Given the description of an element on the screen output the (x, y) to click on. 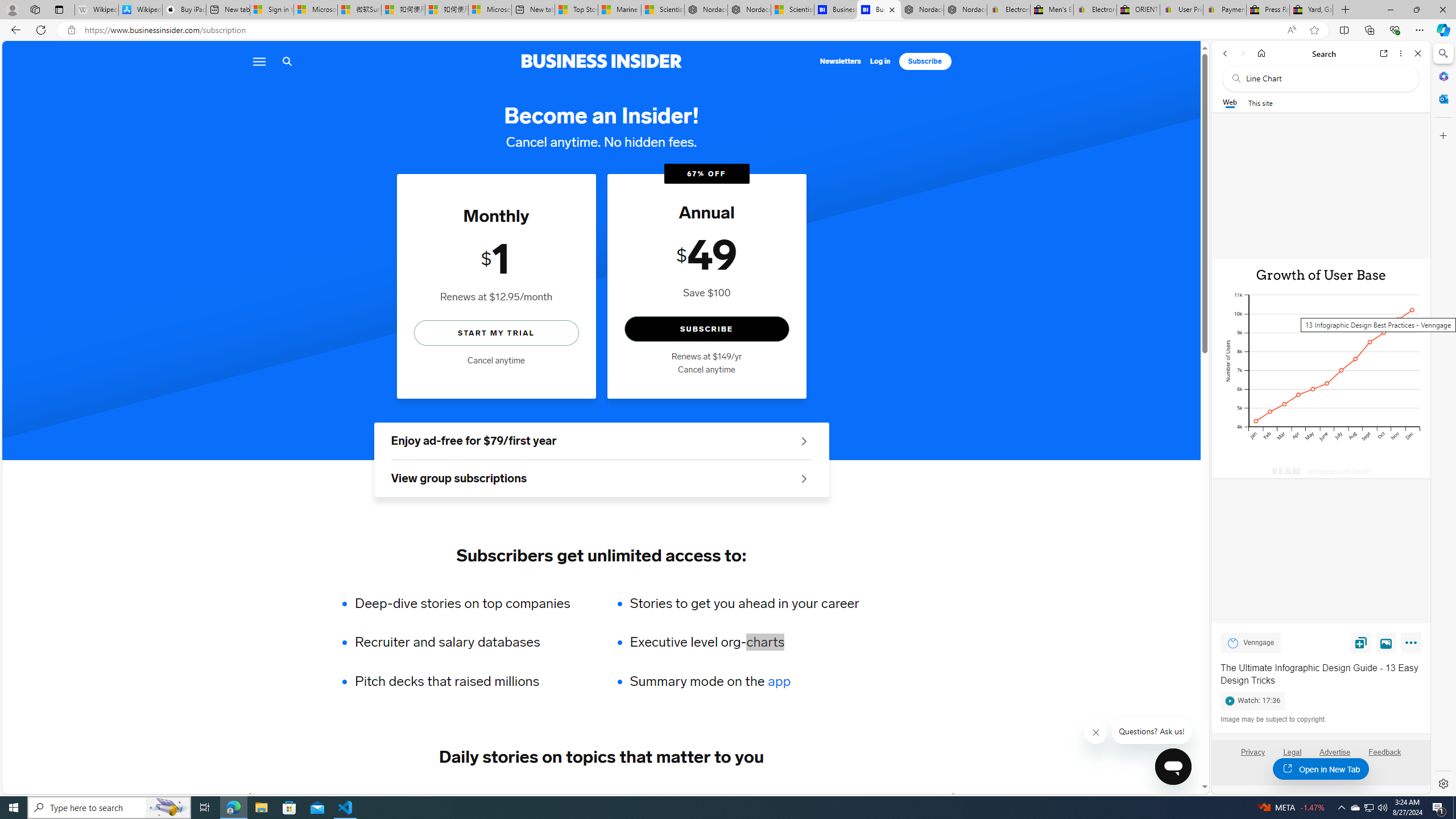
PERSONAL FINANCE (577, 796)
See group offers (803, 478)
View image (1385, 642)
Minimize Search pane (1442, 53)
Cancel anytime (706, 369)
Class: sc-1uf0igr-1 fjHZYk (1096, 732)
